Given the description of an element on the screen output the (x, y) to click on. 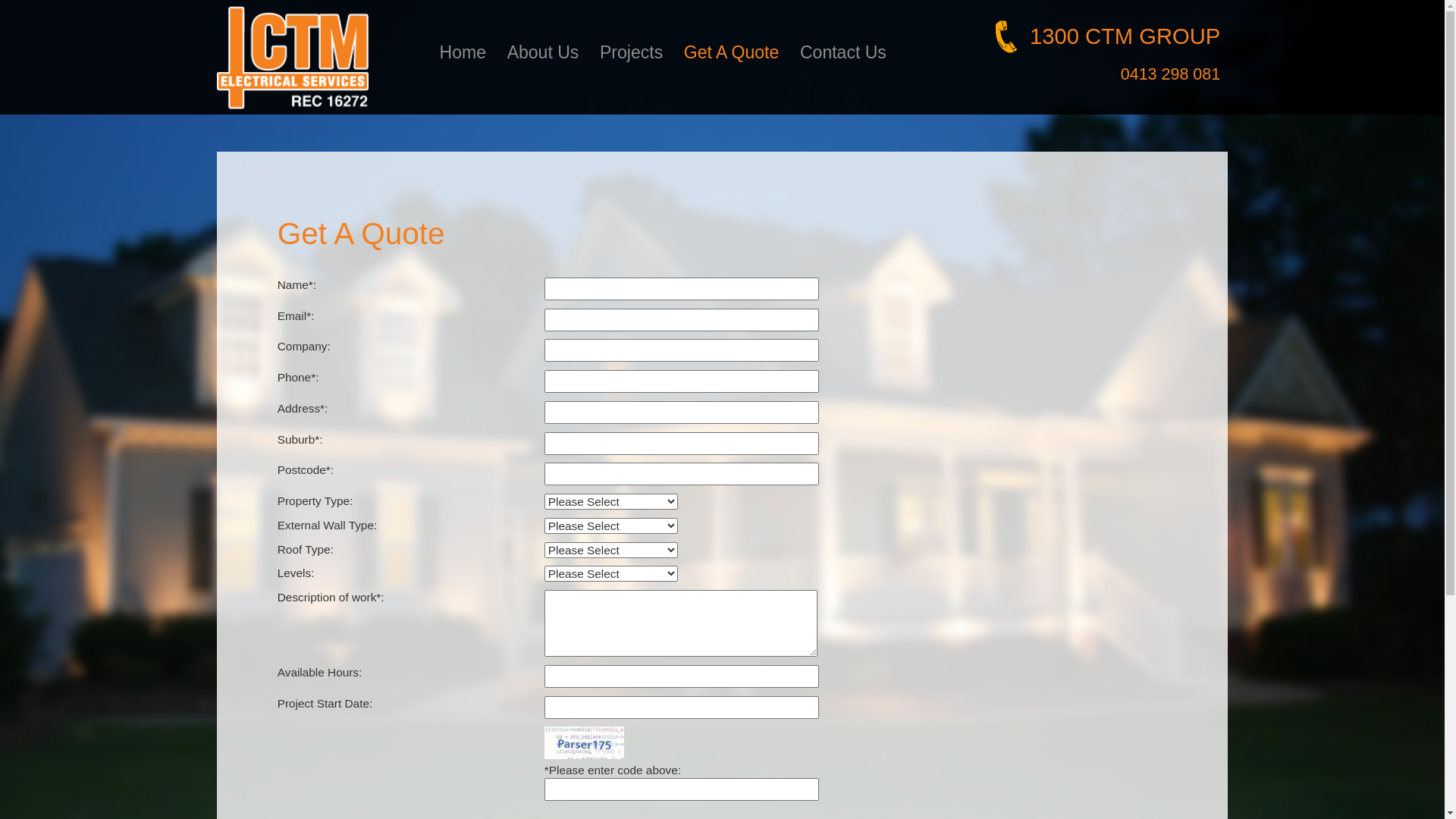
Get A Quote Element type: text (731, 52)
1300 CTM GROUP Element type: text (1108, 36)
Projects Element type: text (631, 52)
0413 298 081 Element type: text (1174, 74)
Home Element type: text (462, 52)
Contact Us Element type: text (843, 52)
About Us Element type: text (542, 52)
